Given the description of an element on the screen output the (x, y) to click on. 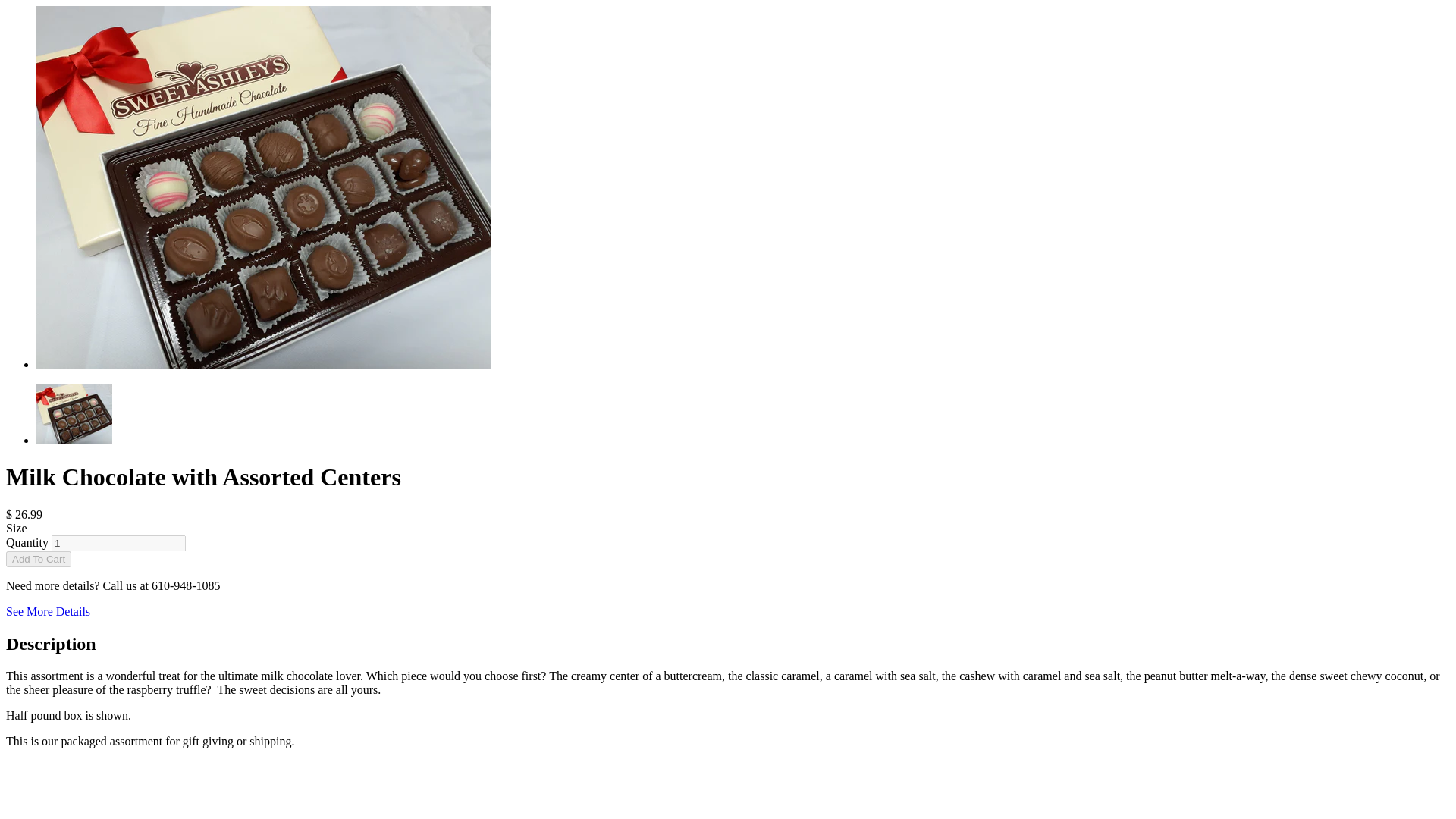
See More Details (47, 611)
Add To Cart (38, 559)
1 (118, 543)
